Given the description of an element on the screen output the (x, y) to click on. 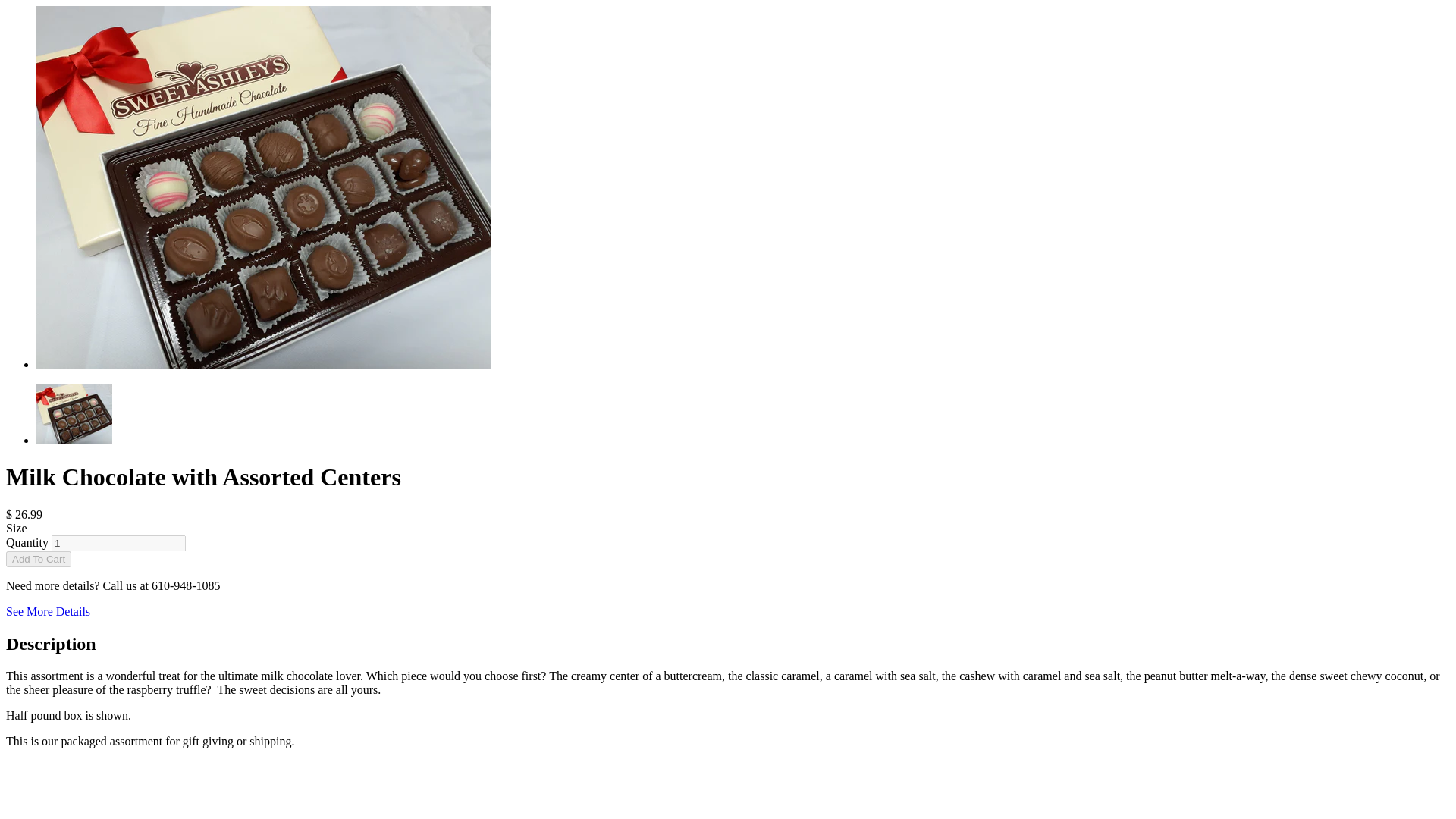
See More Details (47, 611)
Add To Cart (38, 559)
1 (118, 543)
